Given the description of an element on the screen output the (x, y) to click on. 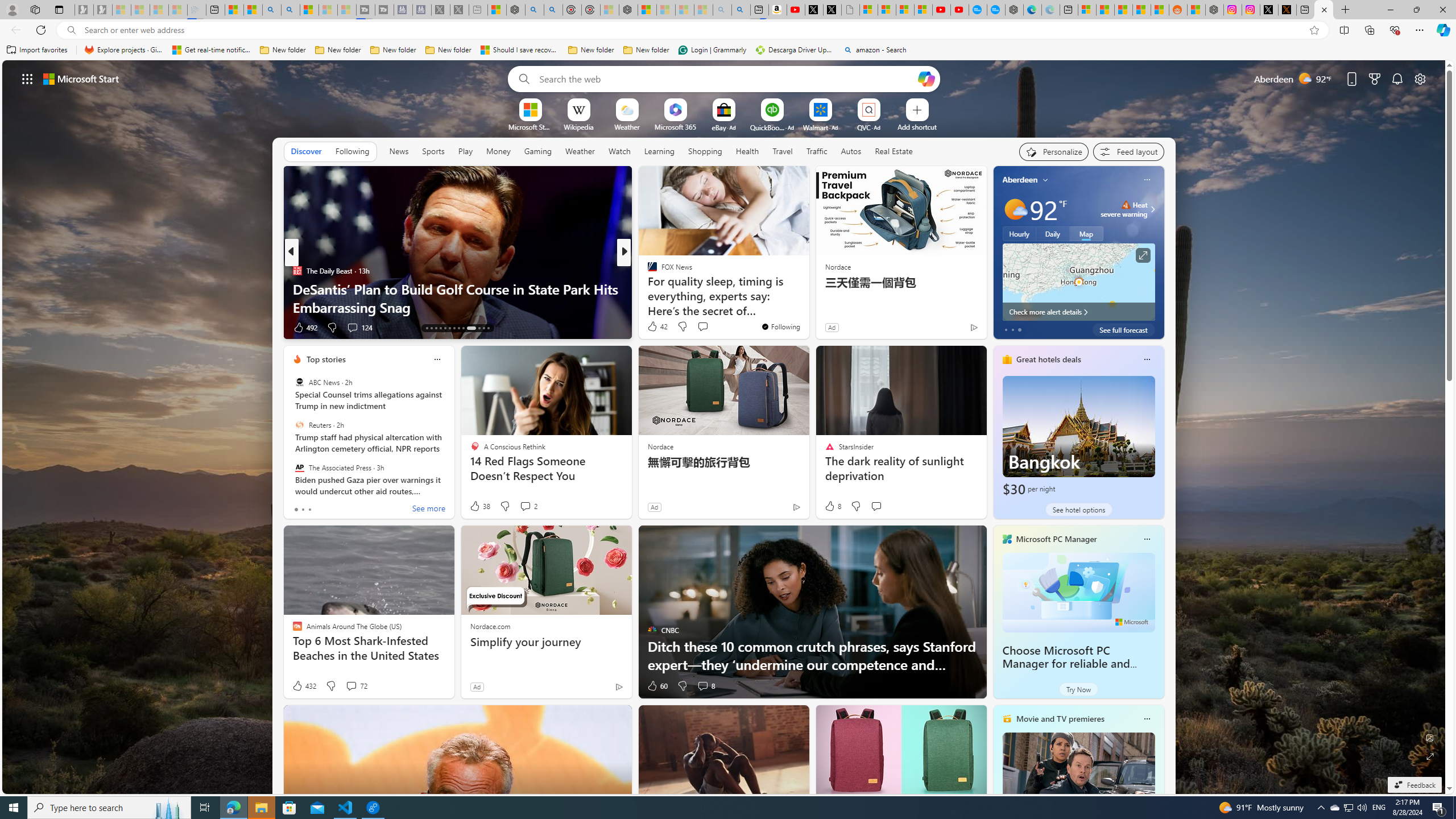
Mostly sunny (1014, 208)
Log in to X / X (1268, 9)
AutomationID: tab-15 (435, 328)
AutomationID: tab-17 (444, 328)
help.x.com | 524: A timeout occurred (1287, 9)
The Associated Press (299, 466)
AutomationID: tab-13 (426, 328)
Shanghai, China Weather trends | Microsoft Weather (1159, 9)
Work + Money (647, 288)
